Given the description of an element on the screen output the (x, y) to click on. 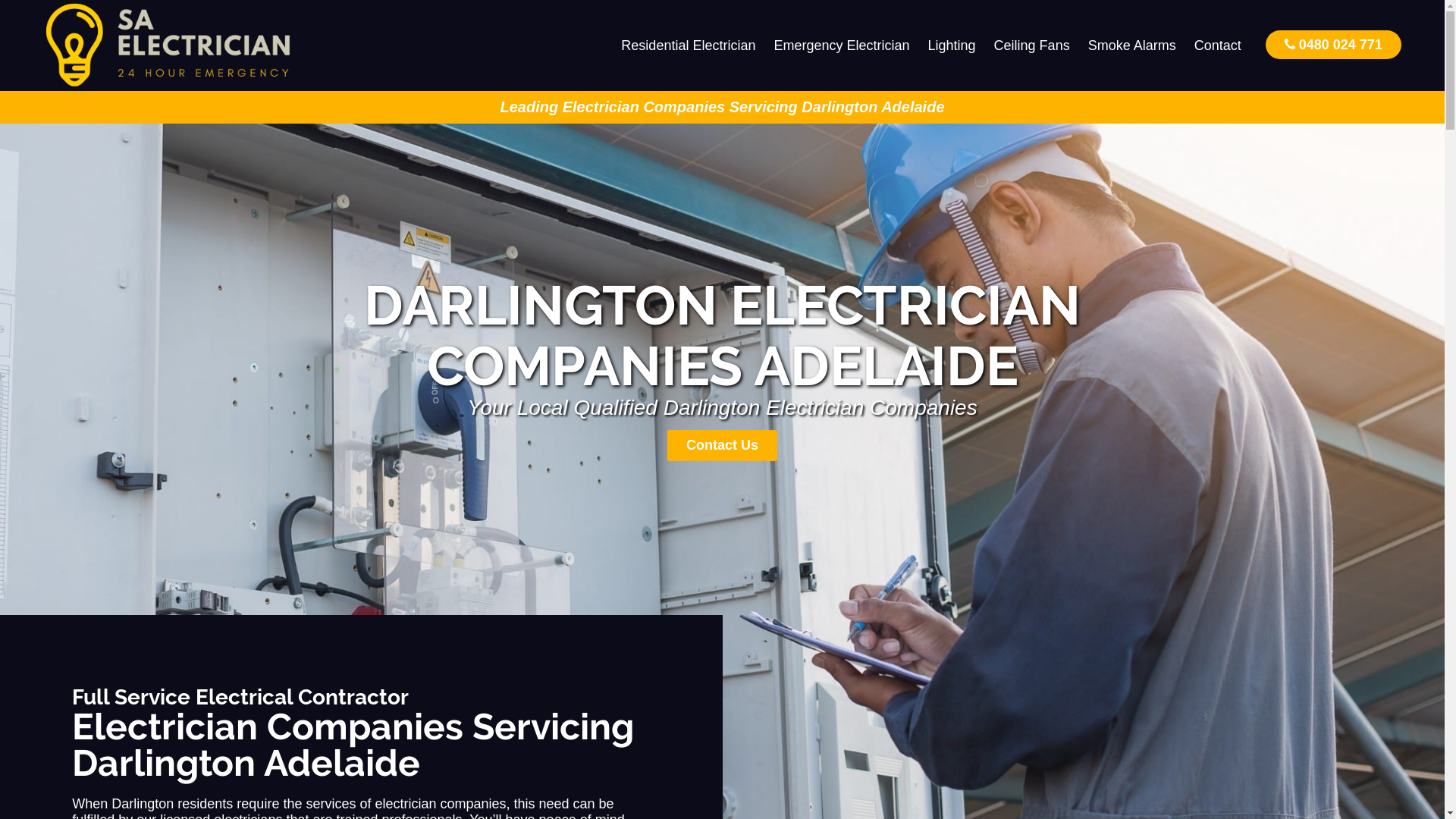
Smoke Alarms Element type: text (1132, 45)
Residential Electrician Element type: text (687, 45)
0480 024 771 Element type: text (1333, 44)
Contact Element type: text (1217, 45)
Contact Us Element type: text (722, 445)
Emergency Electrician Element type: text (841, 45)
Ceiling Fans Element type: text (1032, 45)
Lighting Element type: text (952, 45)
